Given the description of an element on the screen output the (x, y) to click on. 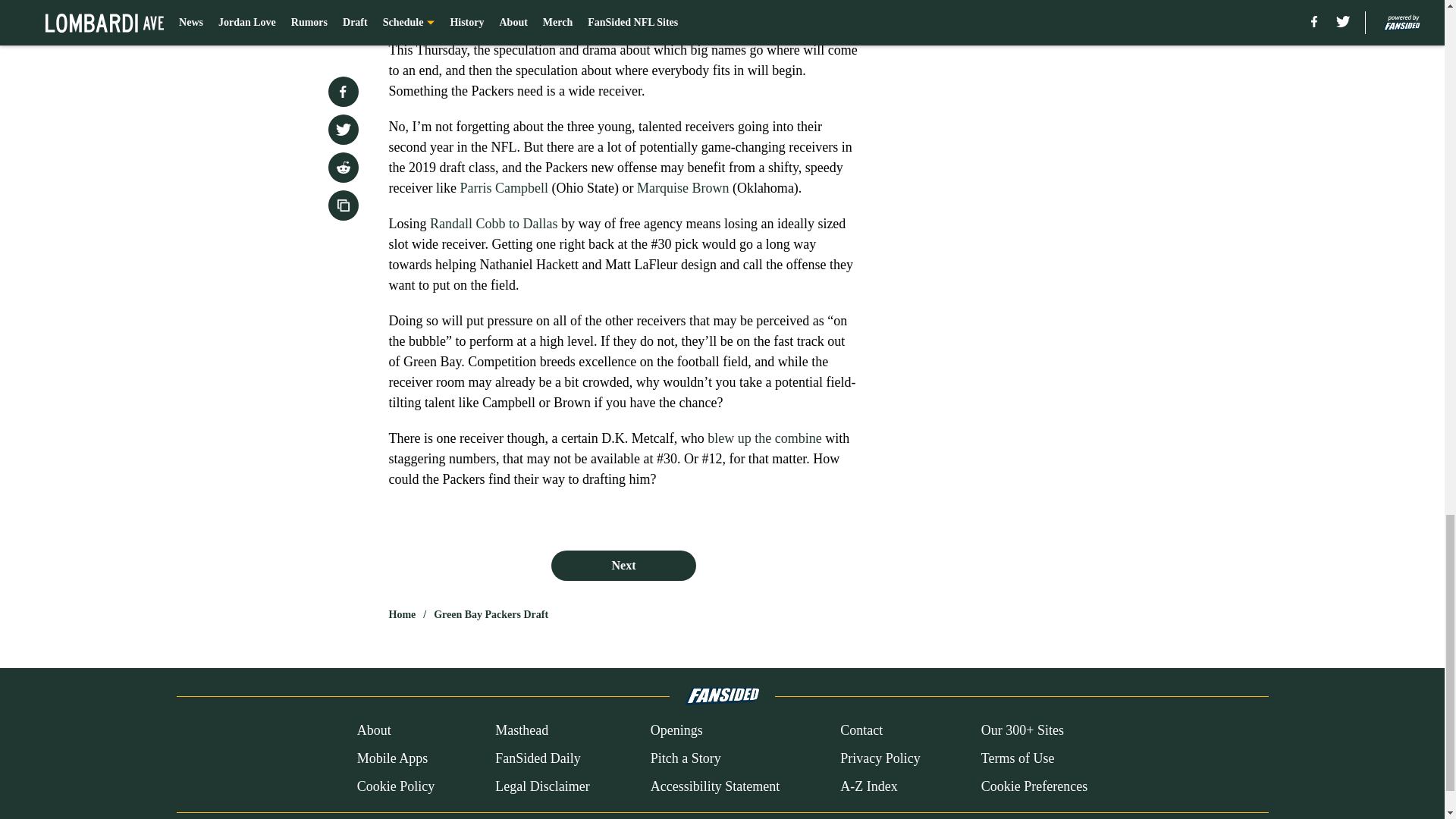
Marquise Brown (683, 187)
Green Bay Packers Draft (490, 614)
Next (622, 565)
Mobile Apps (392, 758)
Randall Cobb to Dallas (491, 223)
Masthead (521, 730)
Pitch a Story (685, 758)
Contact (861, 730)
Privacy Policy (880, 758)
blew up the combine (764, 437)
About (373, 730)
Openings (676, 730)
Home (401, 614)
Parris Campbell (503, 187)
FanSided Daily (537, 758)
